Given the description of an element on the screen output the (x, y) to click on. 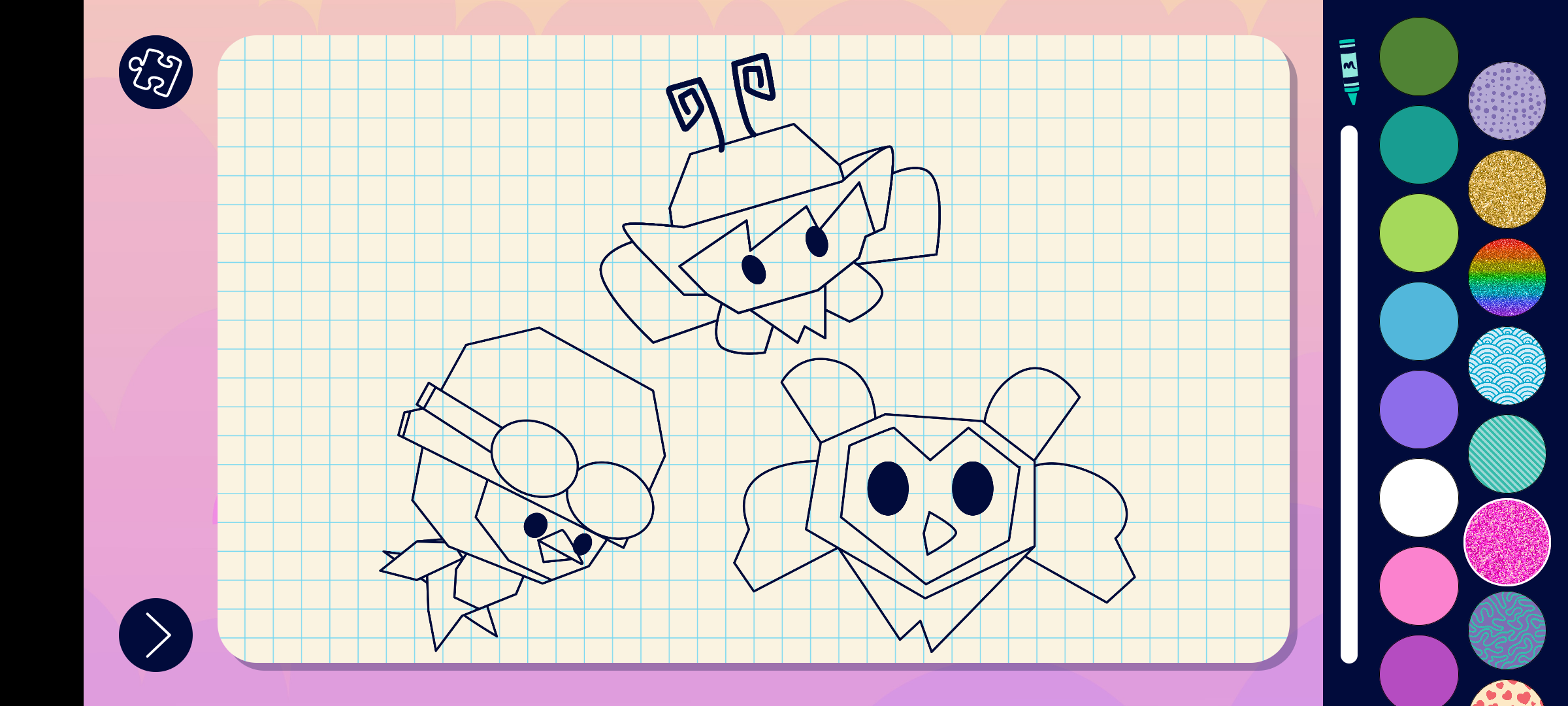
coloring background (1507, 101)
coloring background (1507, 189)
coloring background (1507, 277)
coloring background (1507, 365)
coloring background (1507, 454)
coloring background (1506, 542)
coloring background (1507, 630)
